Given the description of an element on the screen output the (x, y) to click on. 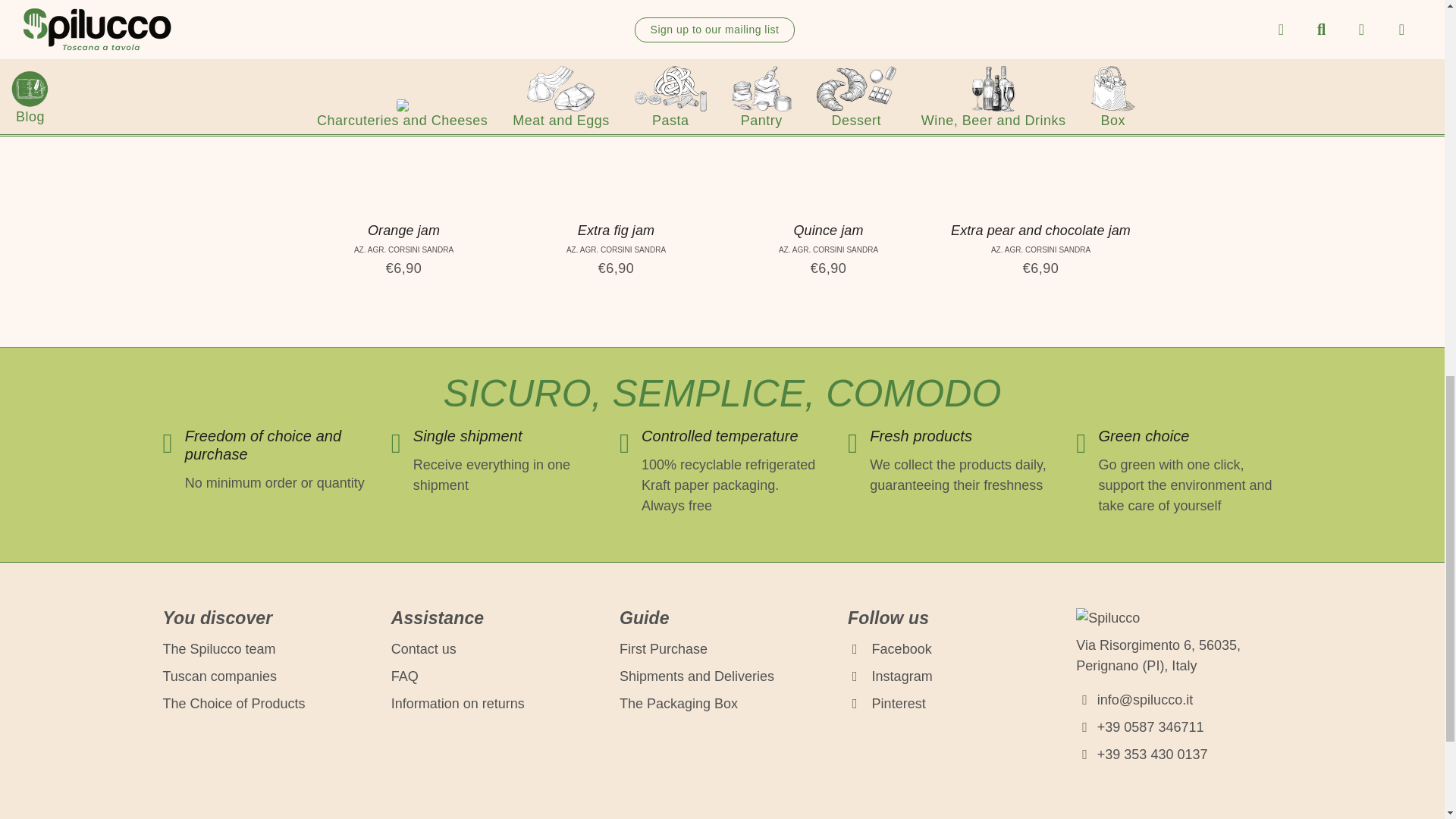
Spilucco on Instagram (890, 676)
Spilucco on Pinterest (886, 703)
Spilucco on Facebook (889, 649)
